Given the description of an element on the screen output the (x, y) to click on. 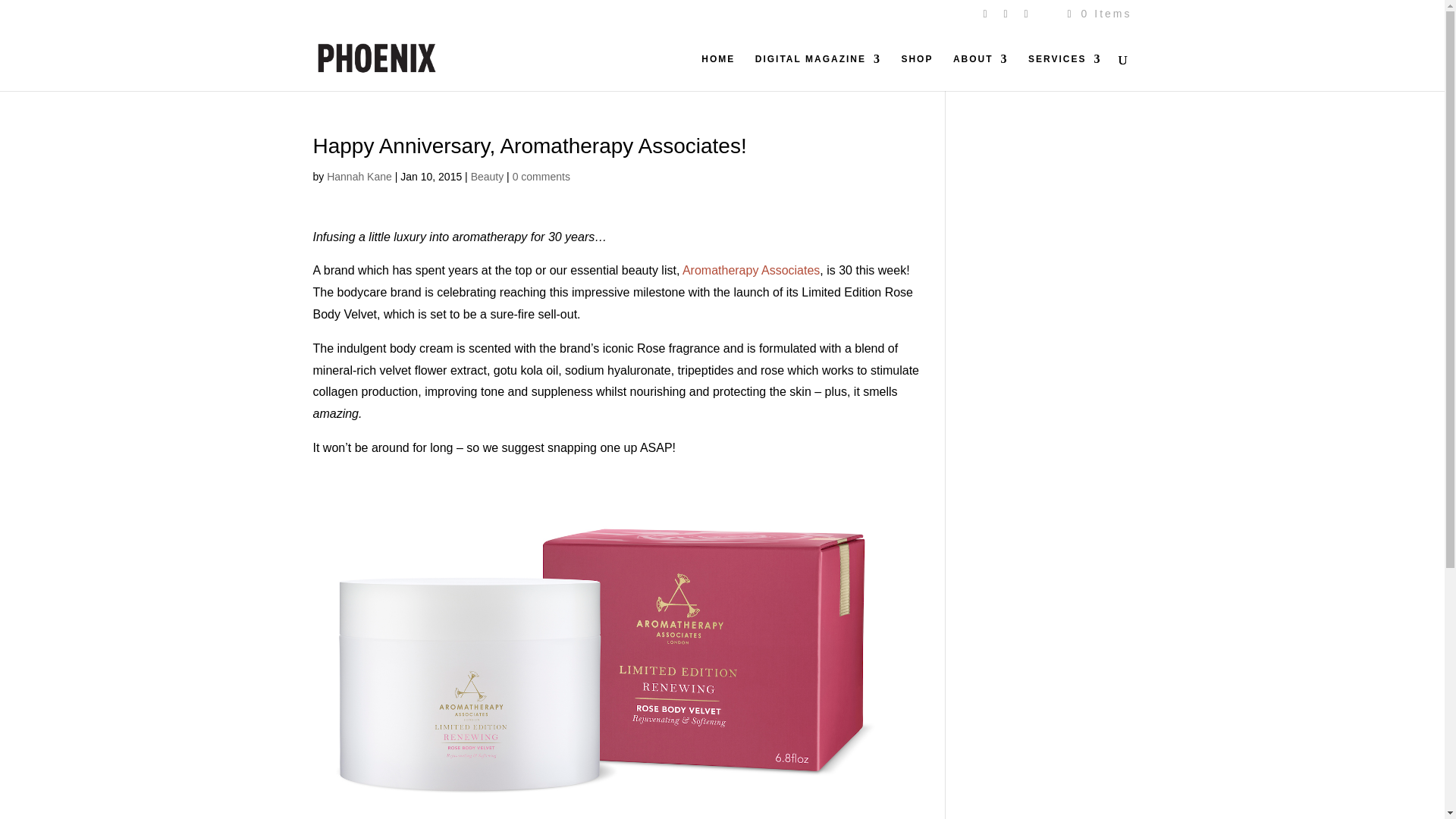
Posts by Hannah Kane (358, 176)
HOME (718, 72)
Beauty (486, 176)
0 comments (541, 176)
ABOUT (981, 72)
DIGITAL MAGAZINE (817, 72)
0 Items (1097, 13)
Hannah Kane (358, 176)
SERVICES (1063, 72)
